Given the description of an element on the screen output the (x, y) to click on. 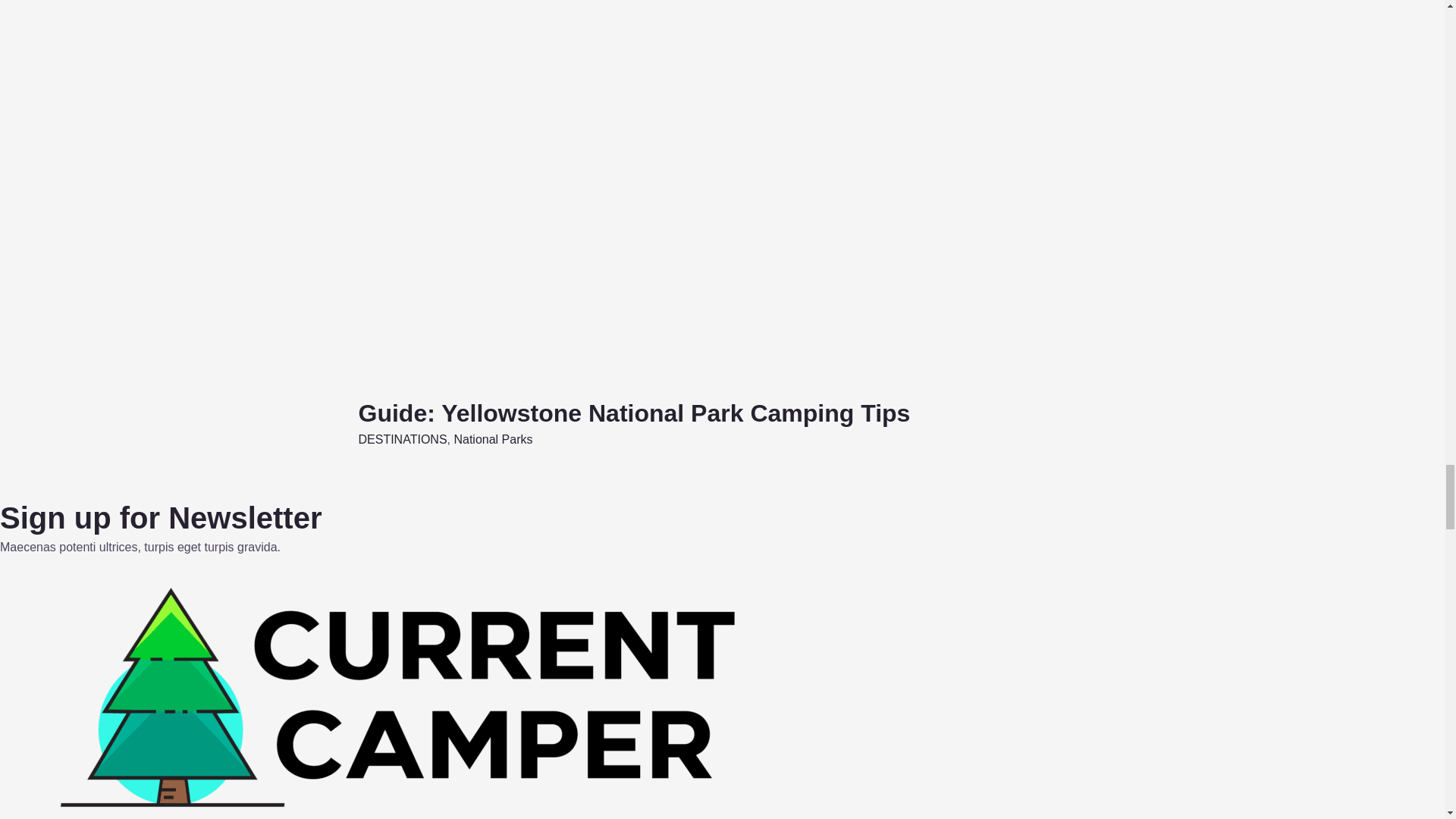
National Parks (492, 439)
DESTINATIONS (402, 439)
Guide: Yellowstone National Park Camping Tips (634, 412)
